Given the description of an element on the screen output the (x, y) to click on. 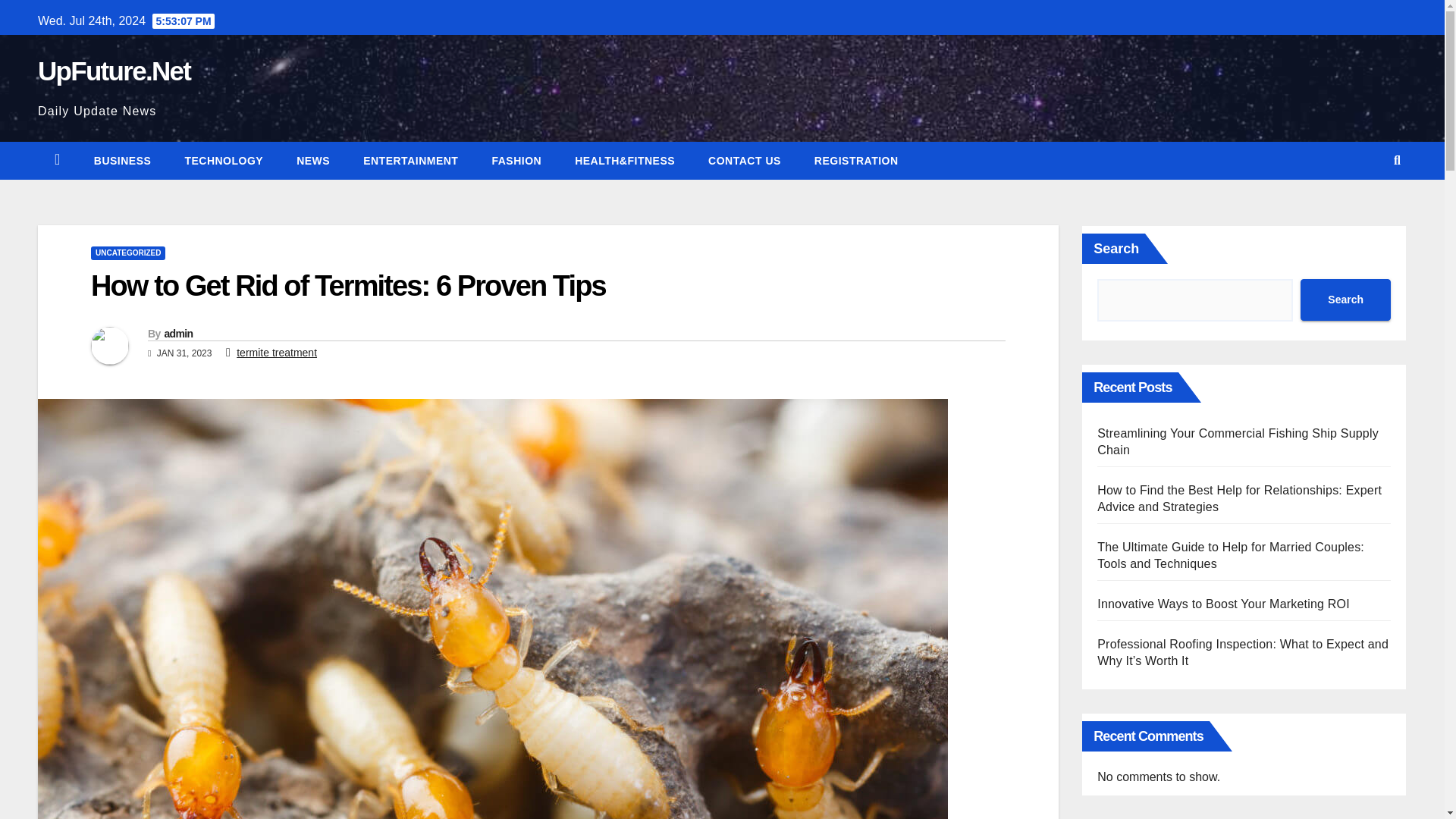
How to Get Rid of Termites: 6 Proven Tips (347, 286)
BUSINESS (122, 159)
Registration (856, 159)
NEWS (312, 159)
Business (122, 159)
REGISTRATION (856, 159)
FASHION (515, 159)
Fashion (515, 159)
CONTACT US (744, 159)
UNCATEGORIZED (127, 252)
Entertainment (410, 159)
Permalink to: How to Get Rid of Termites: 6 Proven Tips (347, 286)
Contact us (744, 159)
Technology (223, 159)
UpFuture.Net (113, 70)
